Given the description of an element on the screen output the (x, y) to click on. 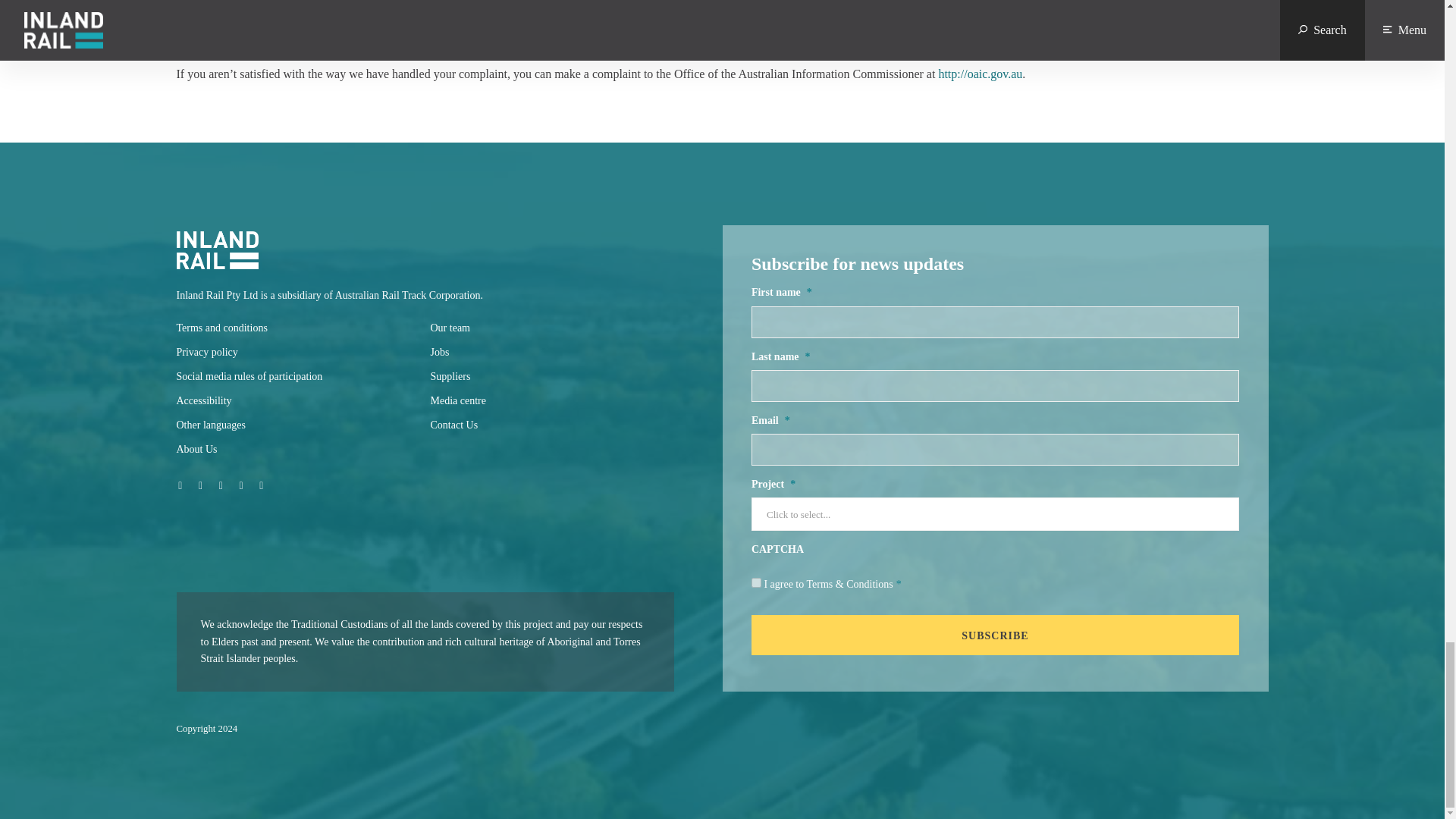
1 (756, 583)
Click to select... (991, 514)
Subscribe (995, 635)
Australian Rail Track Corporation (407, 295)
Terms and conditions (221, 327)
Click to select... (991, 514)
Privacy policy (206, 351)
